Given the description of an element on the screen output the (x, y) to click on. 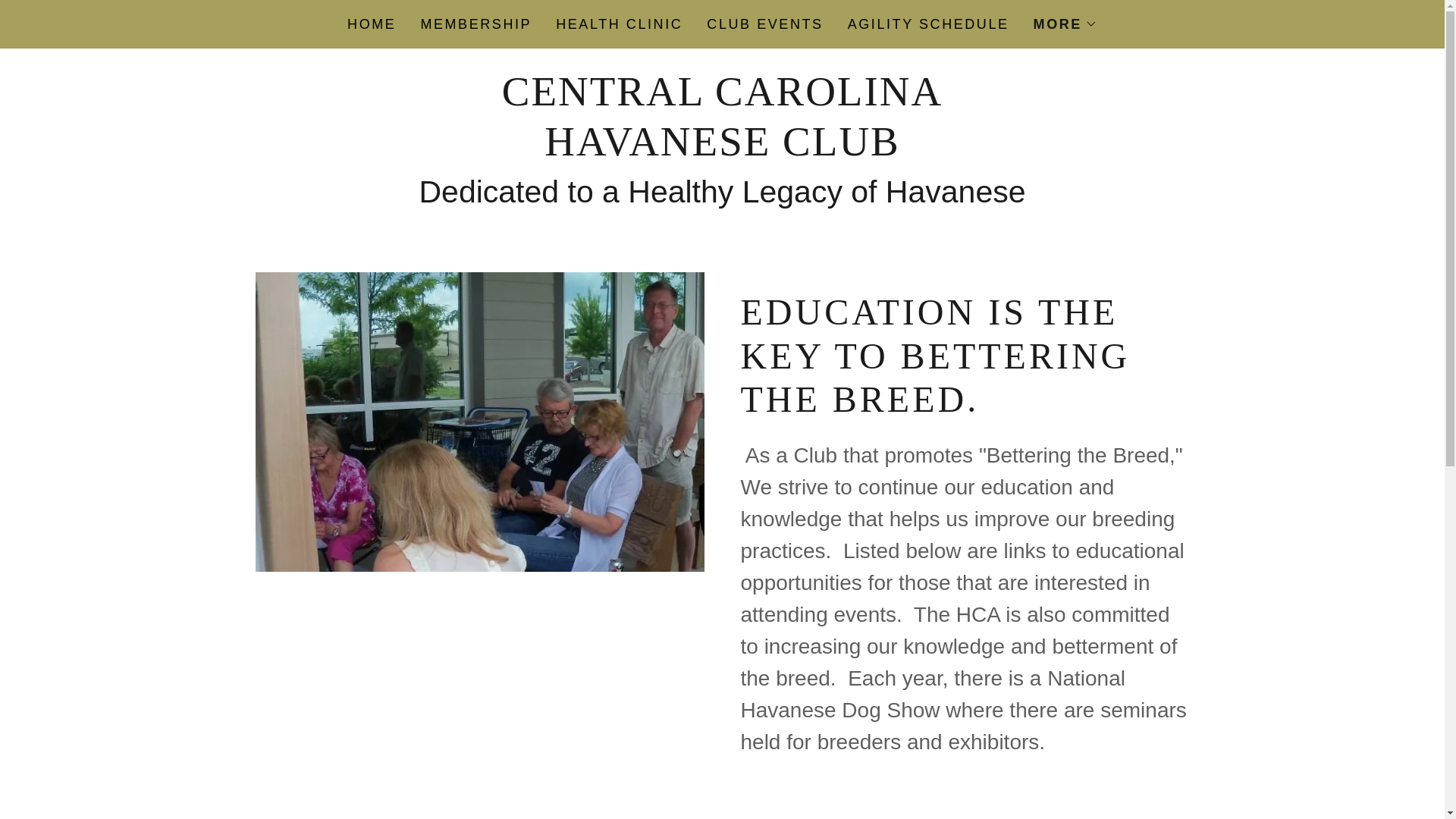
CENTRAL CAROLINA HAVANESE CLUB (721, 149)
MEMBERSHIP (474, 23)
Central Carolina Havanese Club (721, 149)
HEALTH CLINIC (619, 23)
MORE (1065, 24)
HOME (371, 23)
CLUB EVENTS (764, 23)
AGILITY SCHEDULE (928, 23)
